Given the description of an element on the screen output the (x, y) to click on. 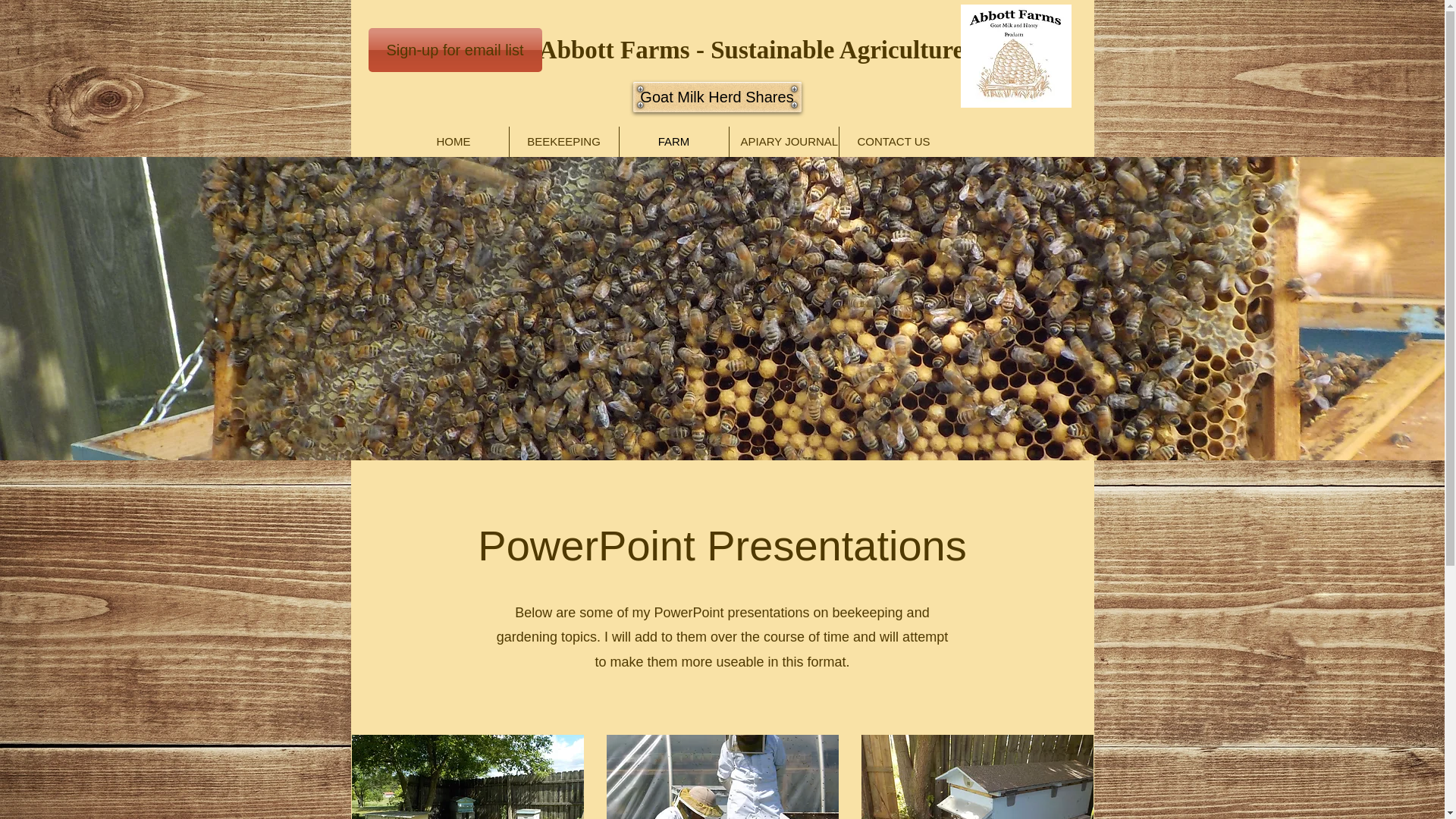
BEEKEEPING (563, 141)
FARM (673, 141)
HOME (453, 141)
Sign-up for email list (454, 49)
Goat Milk Herd Shares (715, 96)
